Given the description of an element on the screen output the (x, y) to click on. 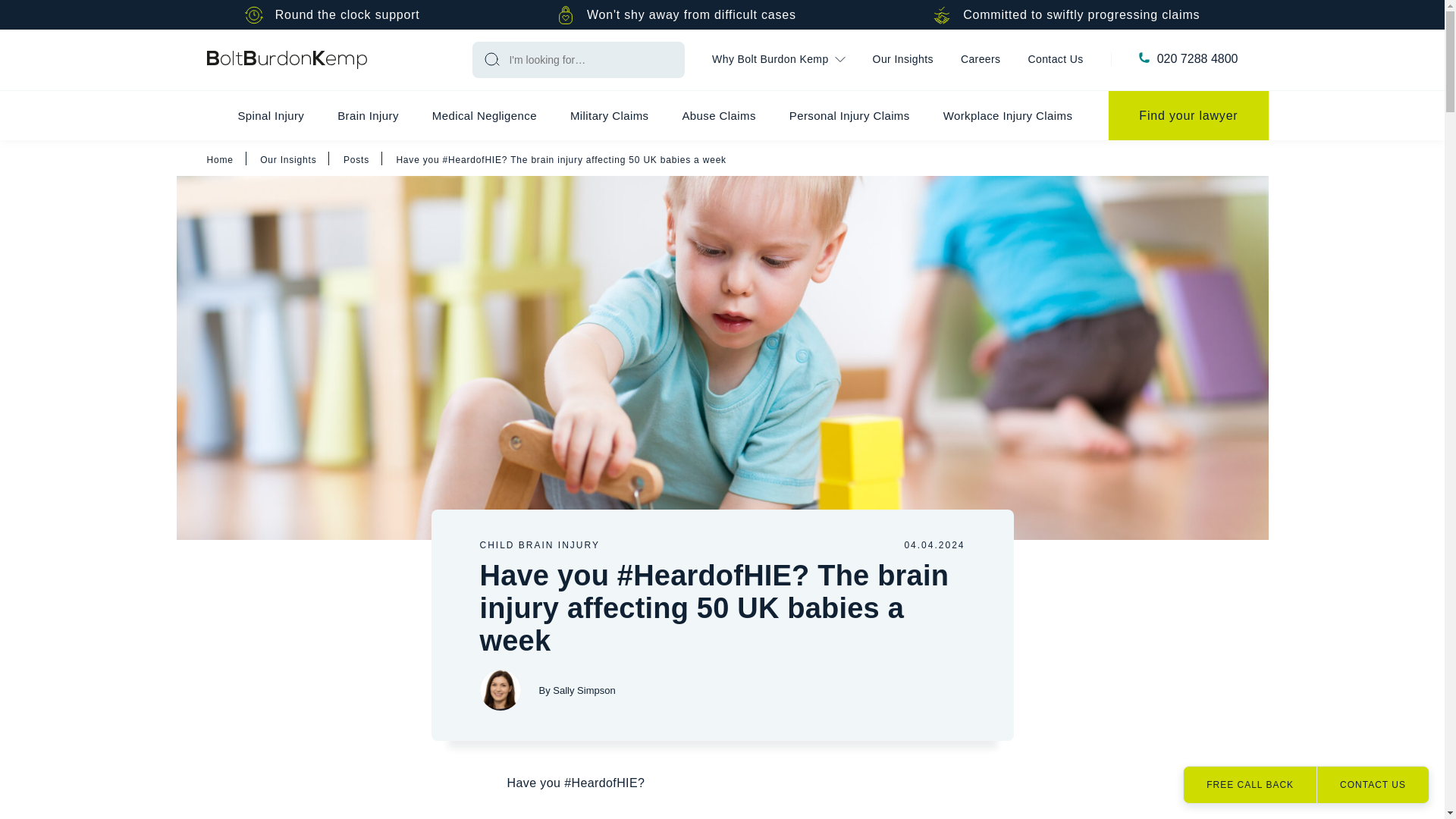
Home (286, 58)
FREE CALL BACK (1249, 784)
Spinal Injury (270, 115)
Our Insights (902, 60)
020 7288 4800 (1198, 59)
Why Bolt Burdon Kemp (778, 60)
Careers (980, 60)
Contact Us (1055, 60)
Sally Simpson (499, 690)
Brain Injury (367, 115)
